Given the description of an element on the screen output the (x, y) to click on. 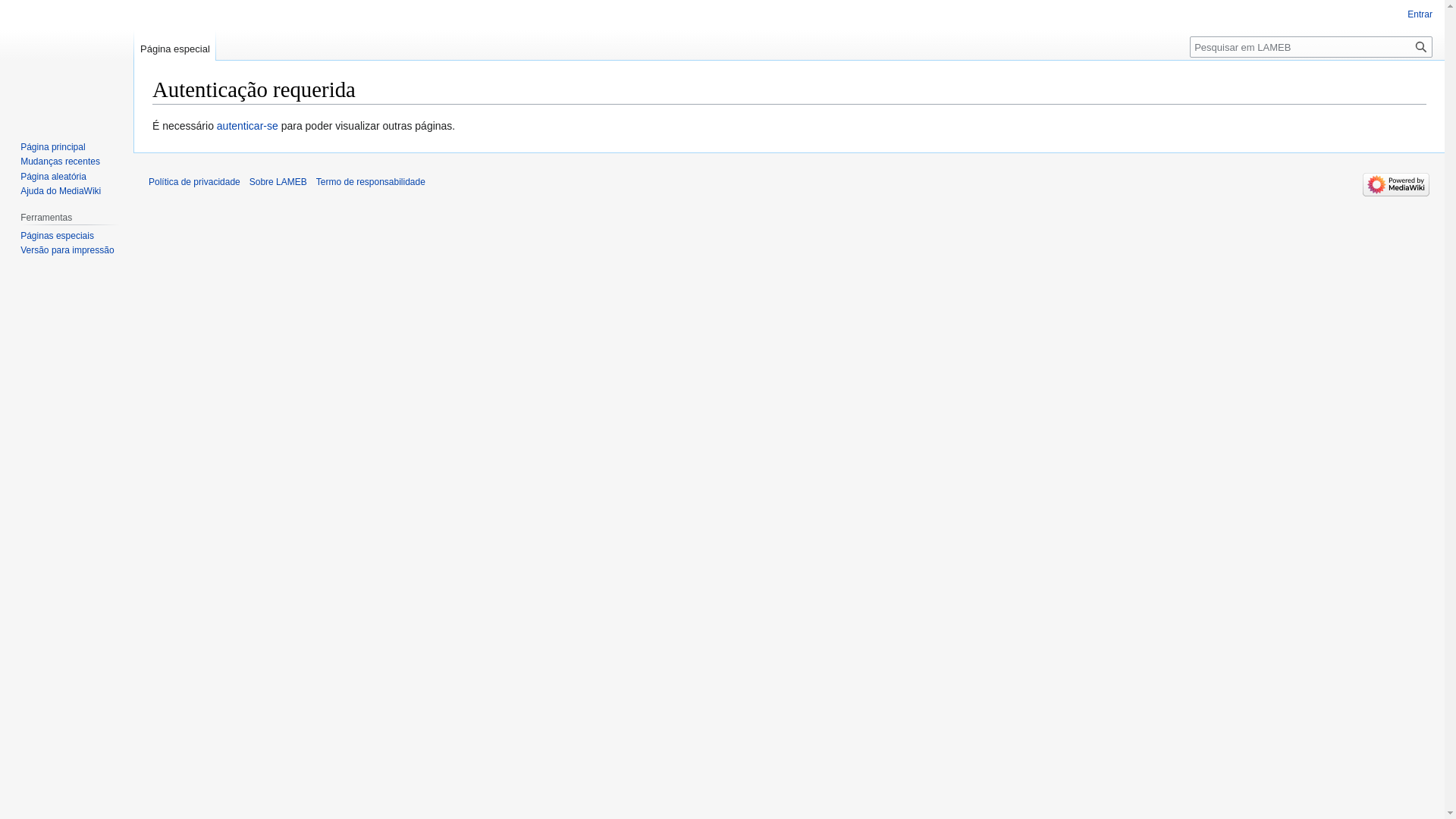
Pesquisar Element type: text (1420, 46)
Entrar Element type: text (1419, 14)
Pesquisar em LAMEB [alt-shift-f] Element type: hover (1310, 46)
autenticar-se Element type: text (247, 125)
Termo de responsabilidade Element type: text (370, 181)
Ajuda do MediaWiki Element type: text (60, 190)
Sobre LAMEB Element type: text (278, 181)
